Given the description of an element on the screen output the (x, y) to click on. 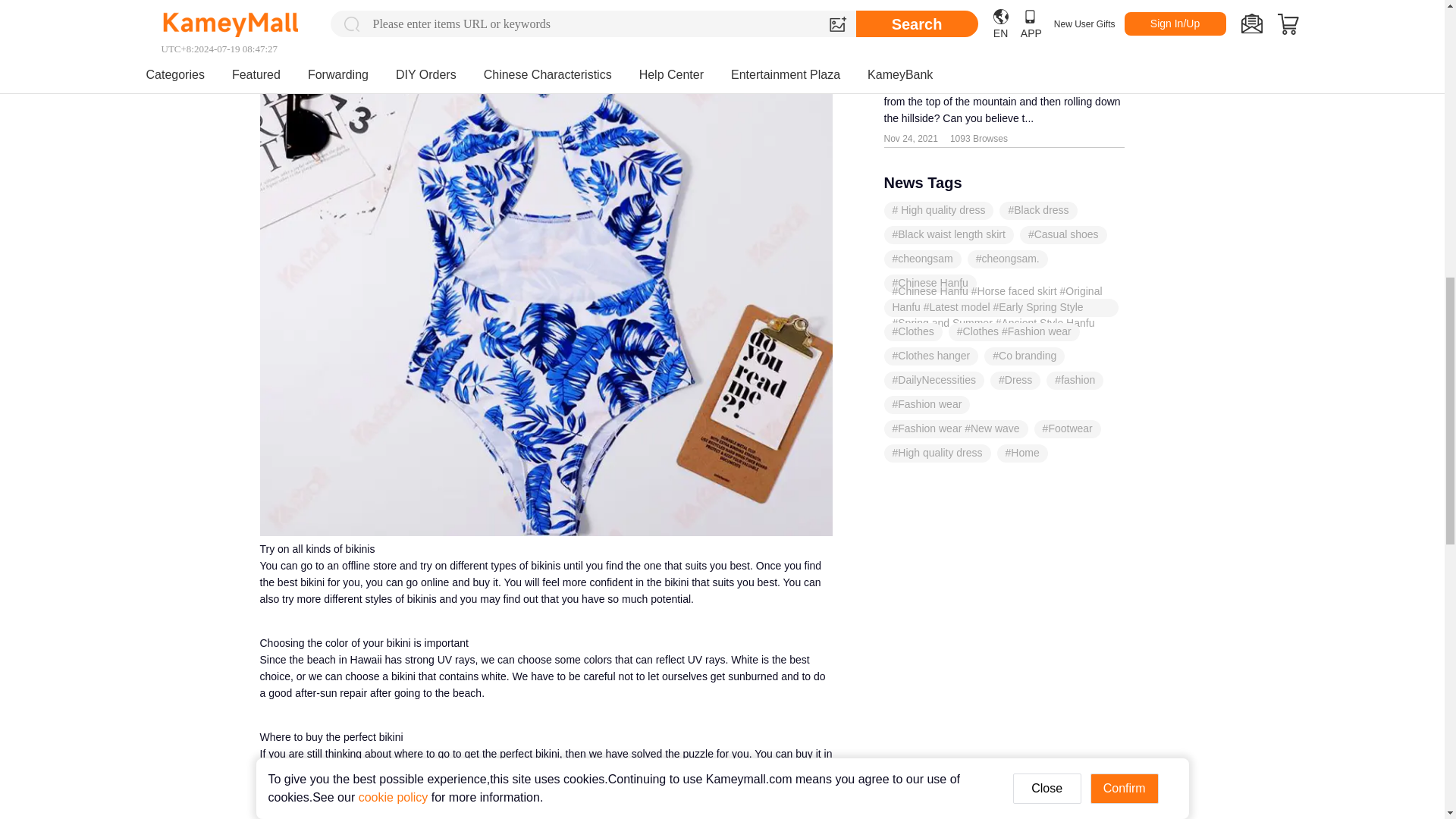
Riding A Zorb Ball? How Can We Play It? (1037, 32)
Kameymall (285, 770)
2022 (279, 800)
